Given the description of an element on the screen output the (x, y) to click on. 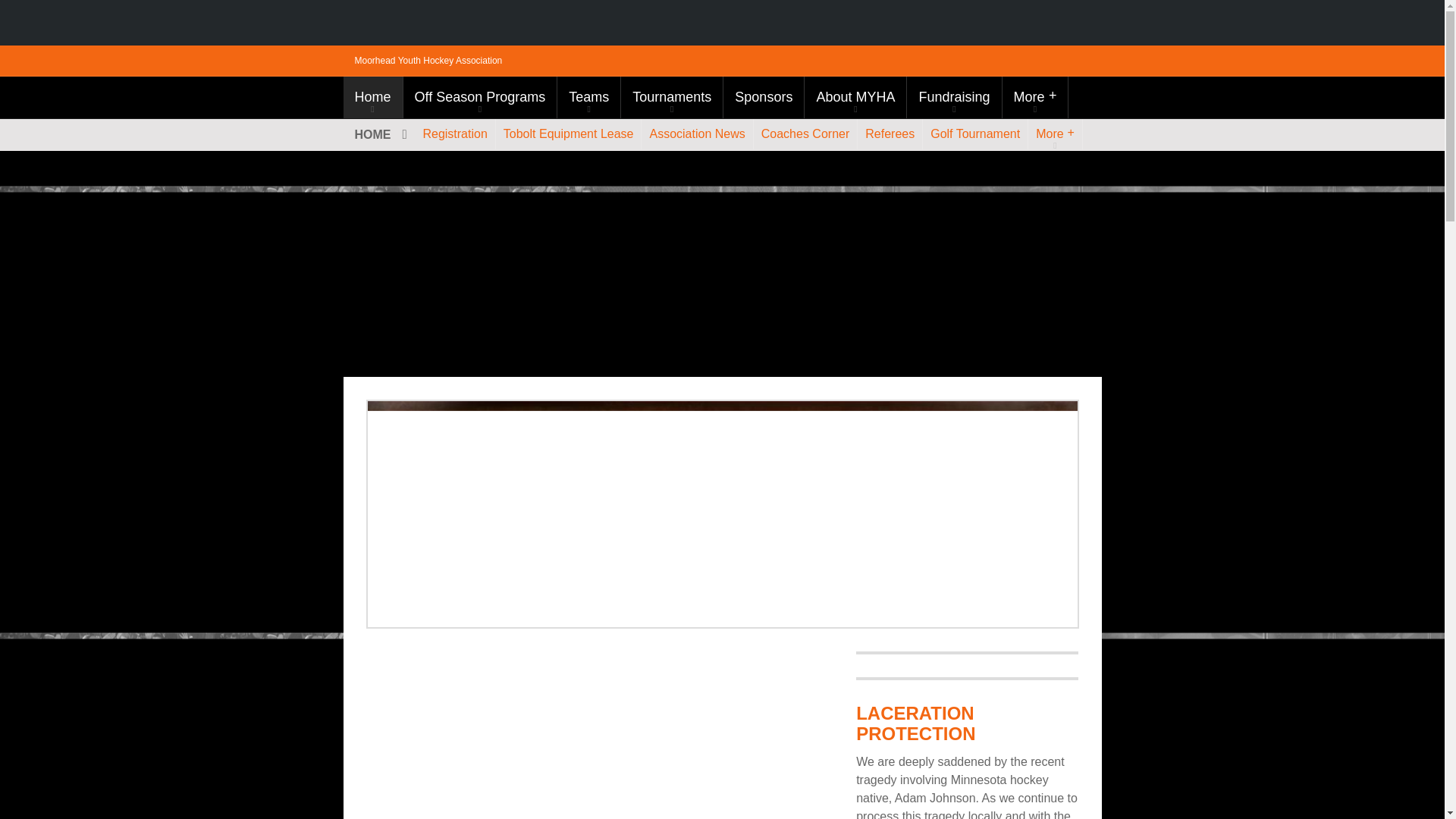
click to go to 'Teams' (588, 96)
Teams (588, 96)
Coaches Corner (805, 133)
click to go to 'MYHA Registration Information' (454, 133)
More (1035, 96)
Off Season Programs (480, 96)
Tobolt Equipment Lease (569, 133)
Home (371, 96)
Sponsors (763, 96)
Association News (697, 133)
